Given the description of an element on the screen output the (x, y) to click on. 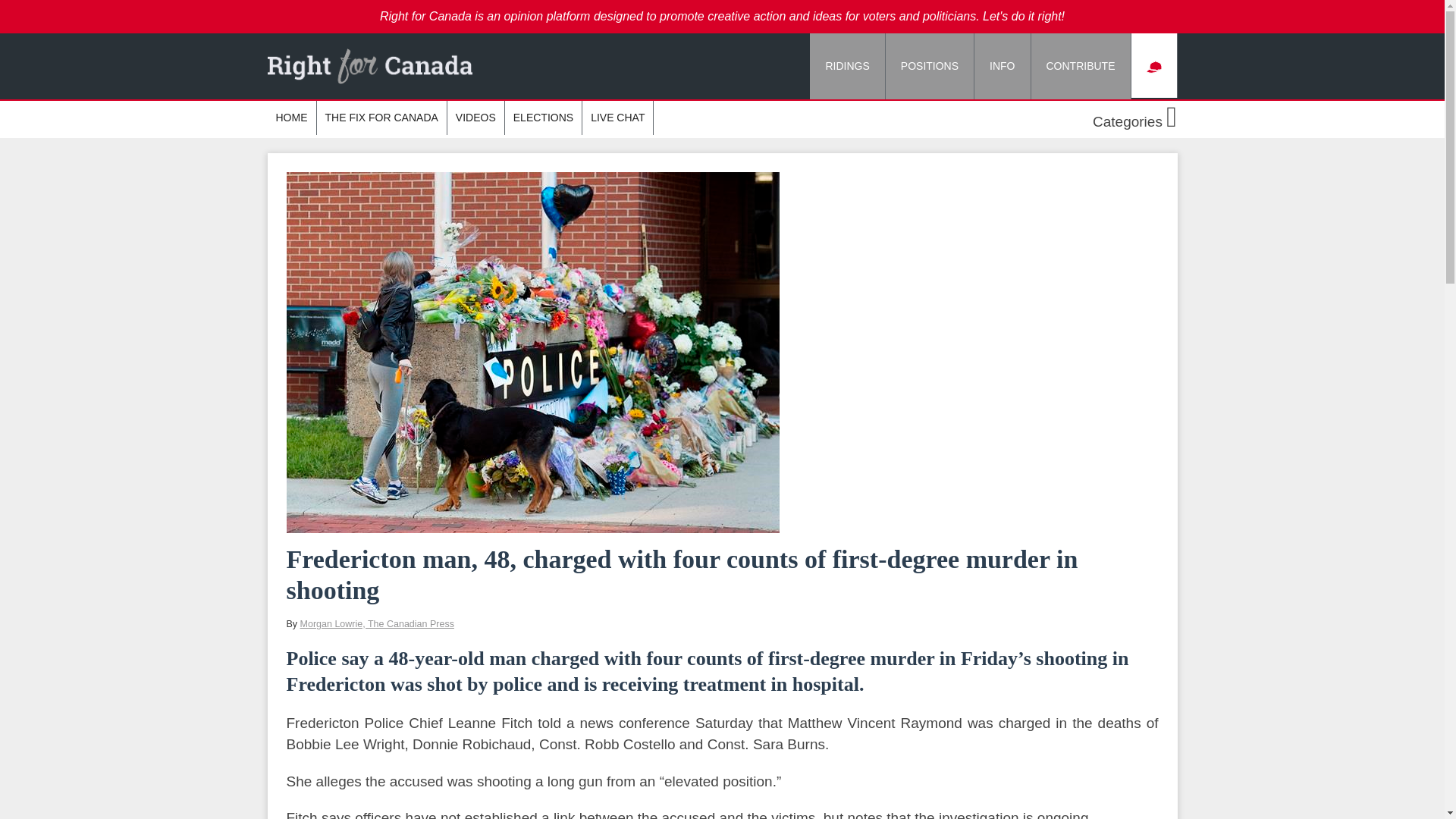
CONTRIBUTE (1080, 66)
POSITIONS (929, 66)
RIDINGS (847, 66)
Posts by Morgan Lowrie, The Canadian Press (376, 624)
